Given the description of an element on the screen output the (x, y) to click on. 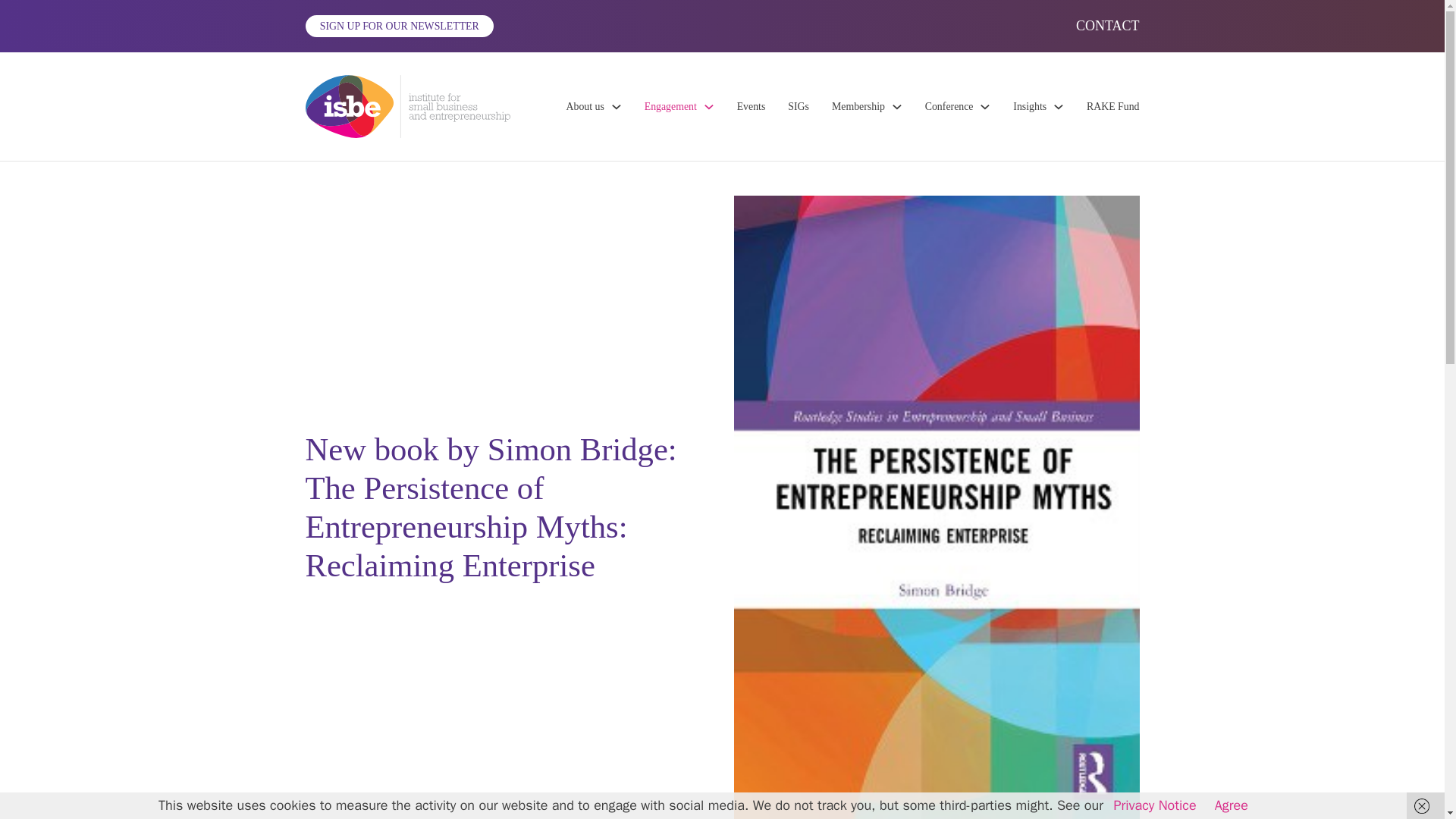
Engagement (671, 106)
RAKE Fund (1113, 106)
Insights (1029, 106)
Events (750, 106)
About us (585, 106)
CONTACT (1107, 25)
SIGN UP FOR OUR NEWSLETTER (398, 25)
Membership (858, 106)
Conference (949, 106)
